Given the description of an element on the screen output the (x, y) to click on. 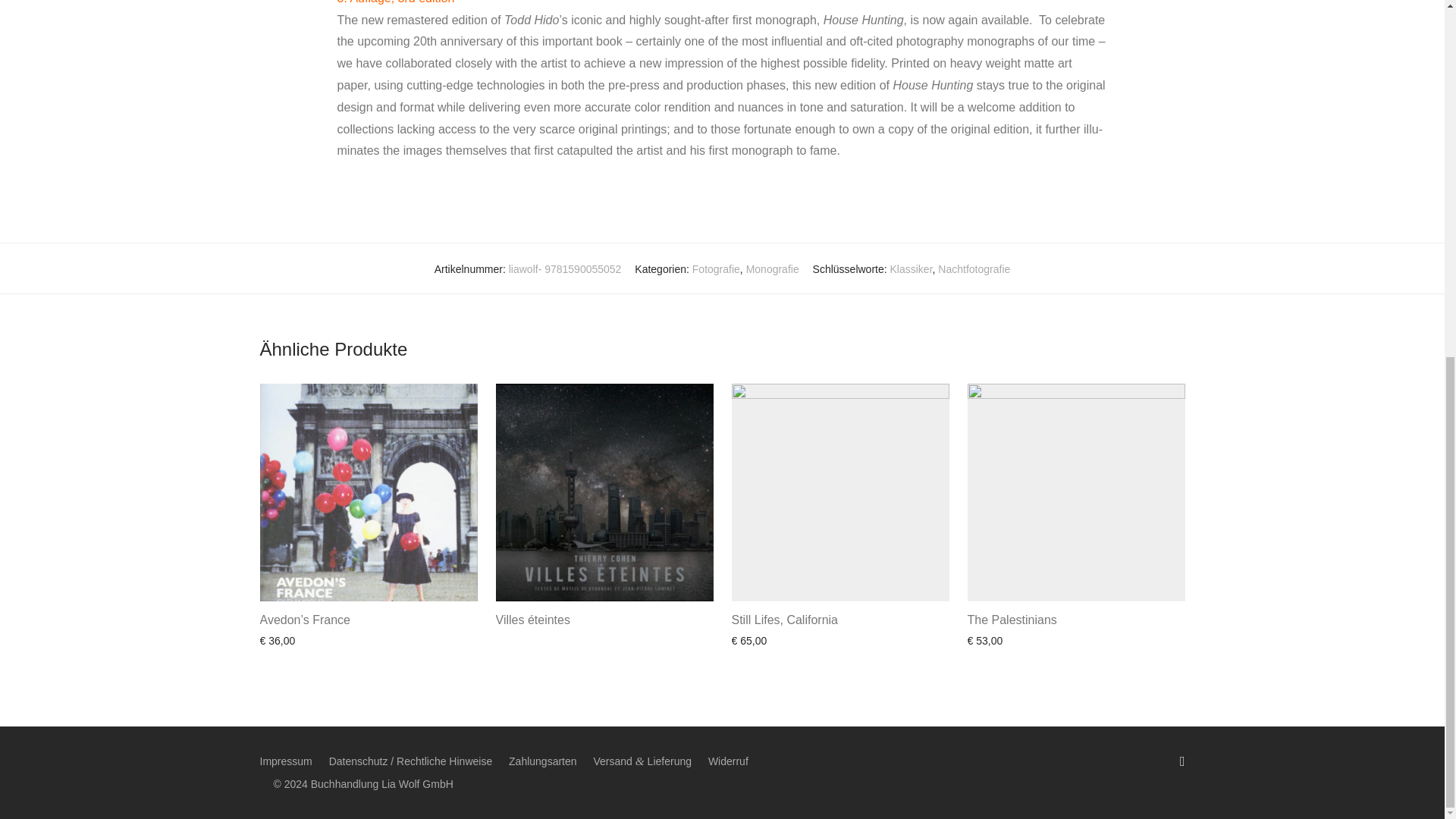
Nachtfotografie (973, 268)
Still Lifes, California (784, 619)
Klassiker (911, 268)
Monografie (772, 268)
Fotografie (716, 268)
